Given the description of an element on the screen output the (x, y) to click on. 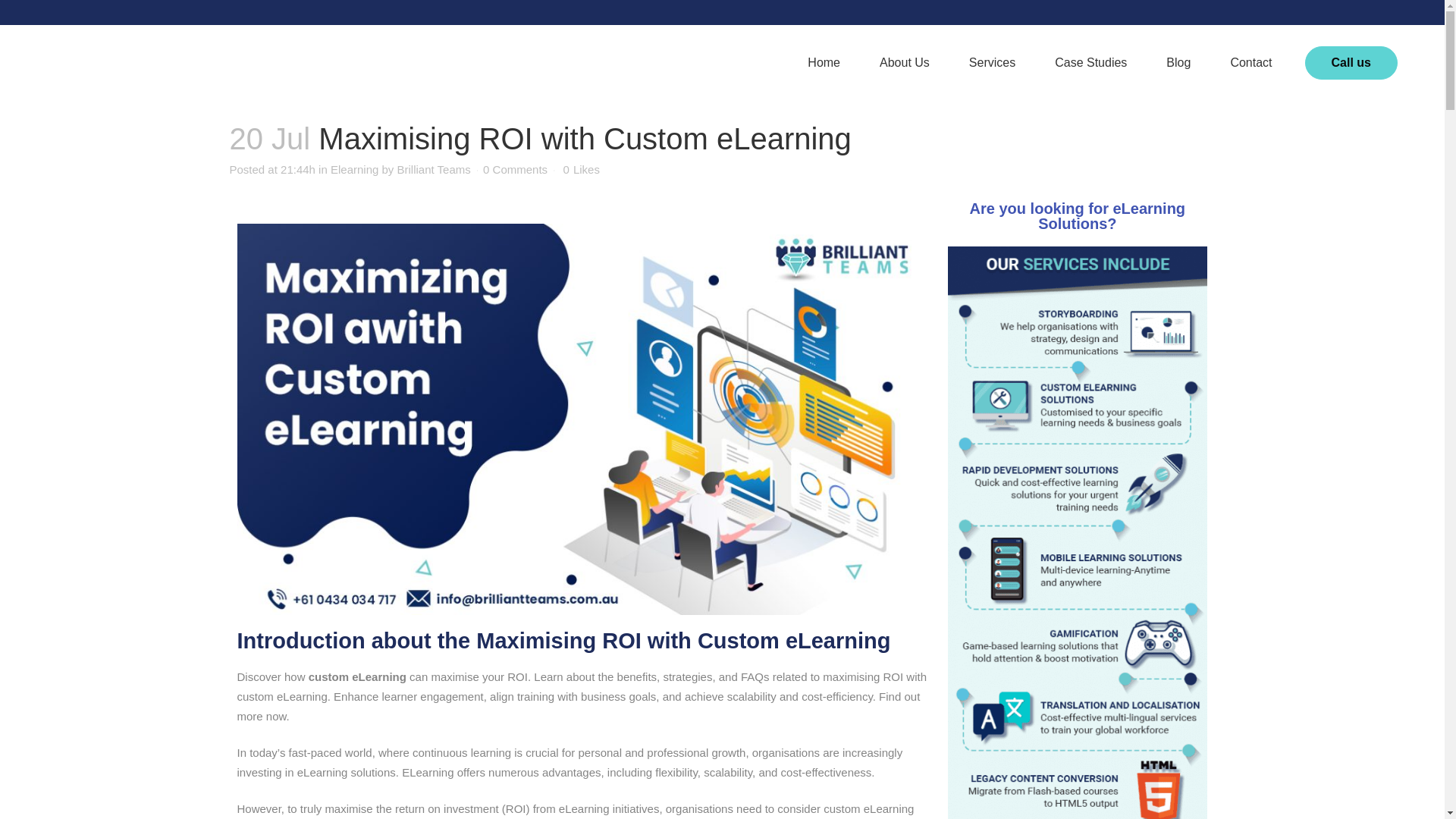
About Us (904, 62)
custom eLearning (357, 676)
Case Studies (1091, 62)
0 Likes (581, 169)
Services (992, 62)
Brilliant Teams (433, 169)
Contact (1250, 62)
Like this (581, 169)
Elearning (354, 169)
Call us (1350, 62)
